Given the description of an element on the screen output the (x, y) to click on. 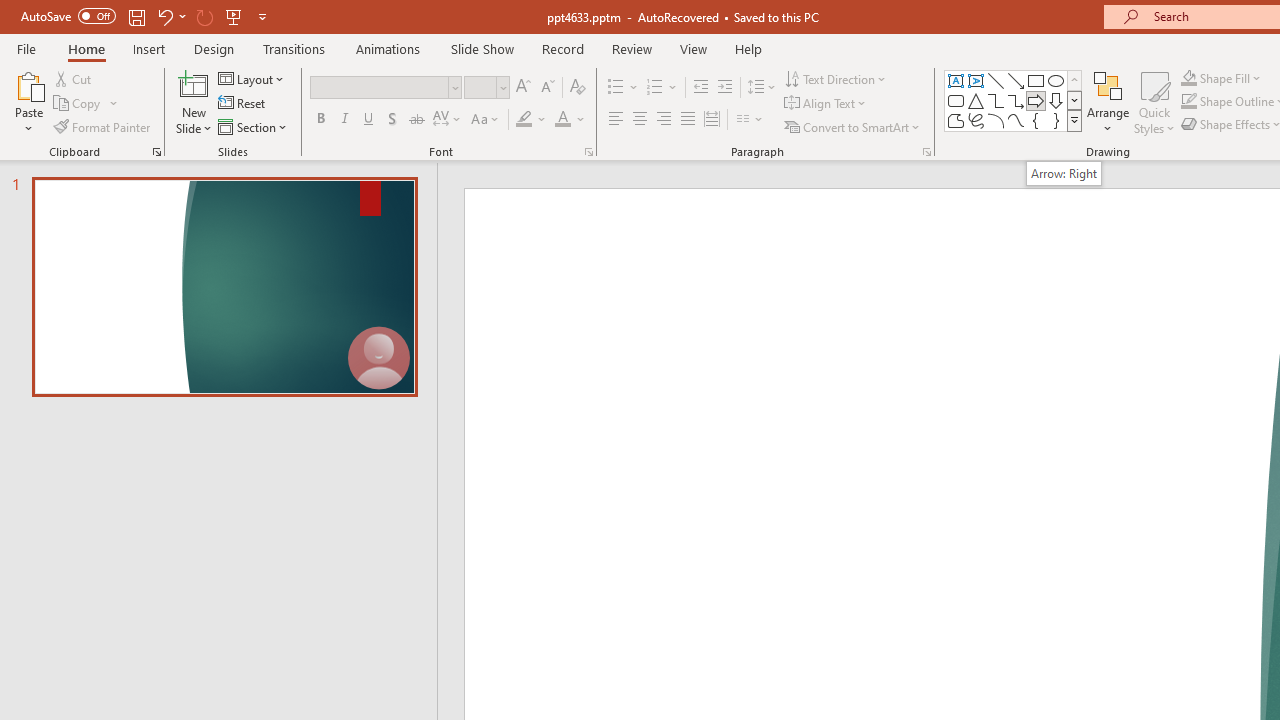
Shape Outline Dark Red, Accent 1 (1188, 101)
Underline (369, 119)
Arrow: Right (1064, 173)
Decrease Indent (700, 87)
Reset (243, 103)
Line (995, 80)
AutomationID: ShapesInsertGallery (1014, 100)
Right Brace (1055, 120)
Connector: Elbow Arrow (1016, 100)
